Given the description of an element on the screen output the (x, y) to click on. 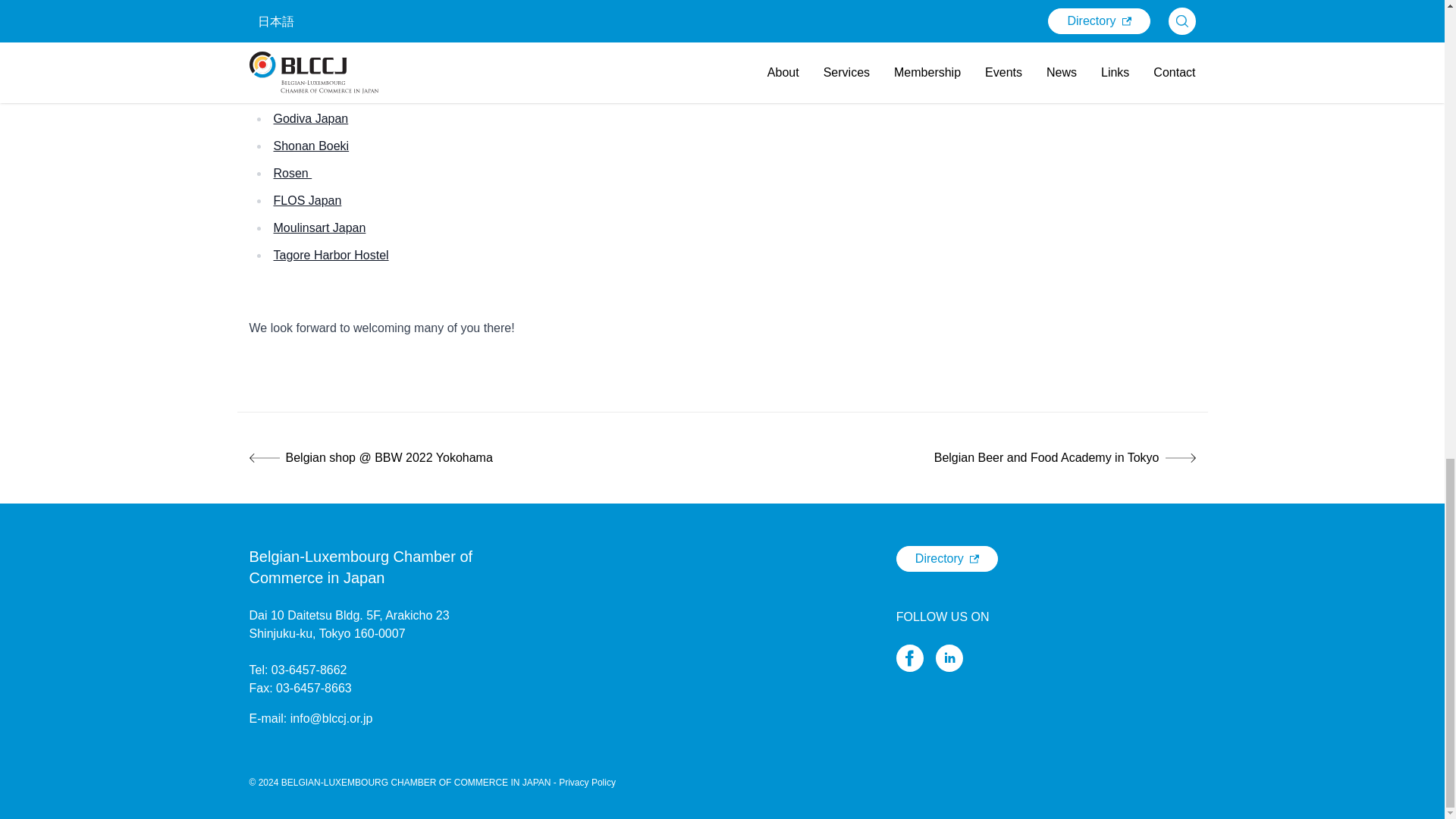
Privacy Policy (587, 782)
AB InBev Japan (317, 91)
Rosen  (293, 173)
Belgian Beer and Food Academy in Tokyo (964, 457)
Moulinsart Japan (319, 227)
FLOS Japan (307, 200)
Godiva Japan (311, 118)
Directory (946, 558)
Shonan Boeki (311, 145)
Tagore Harbor Hostel (330, 254)
